Given the description of an element on the screen output the (x, y) to click on. 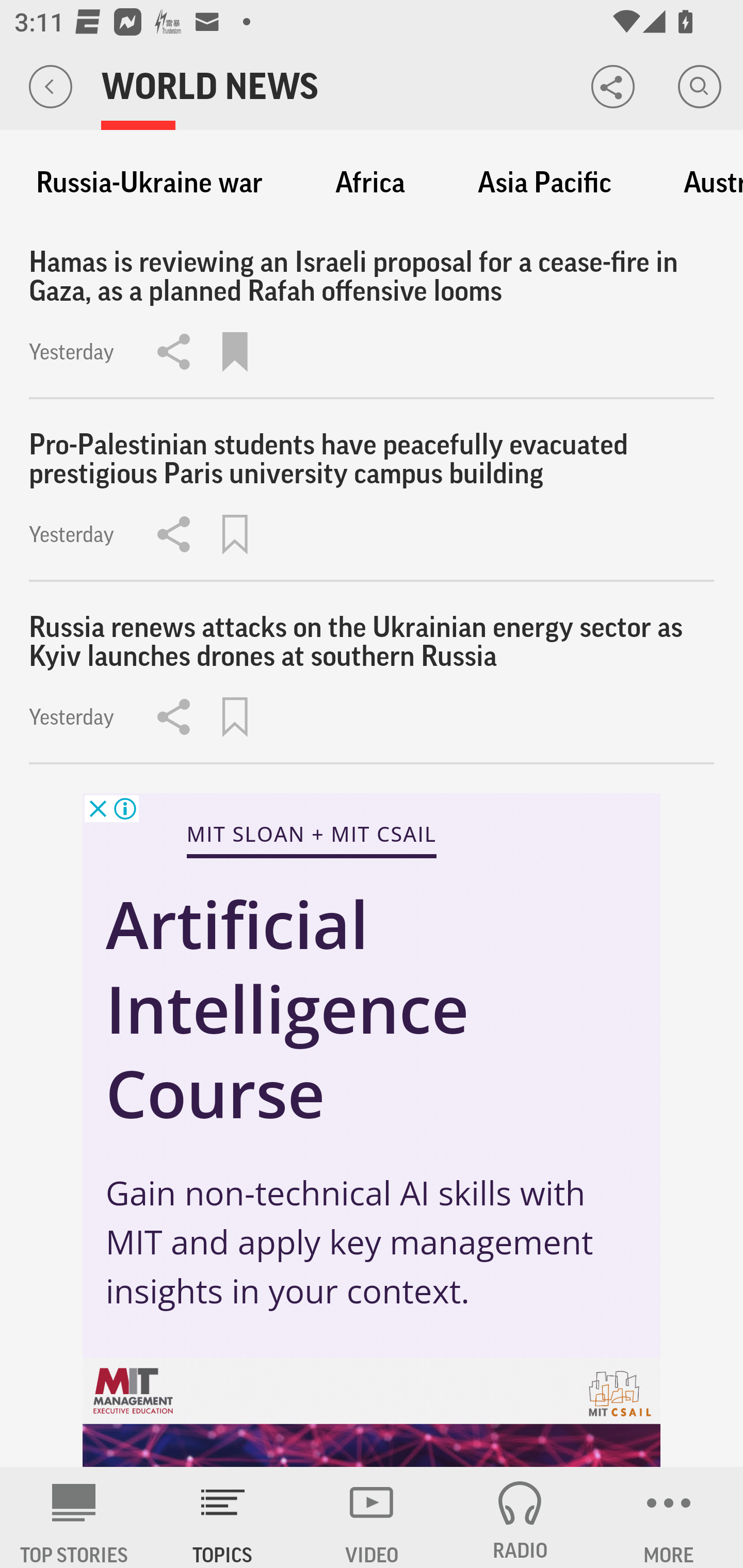
Russia-Ukraine war (148, 182)
Africa (370, 182)
Asia Pacific (544, 182)
AP News TOP STORIES (74, 1517)
TOPICS (222, 1517)
VIDEO (371, 1517)
RADIO (519, 1517)
MORE (668, 1517)
